Given the description of an element on the screen output the (x, y) to click on. 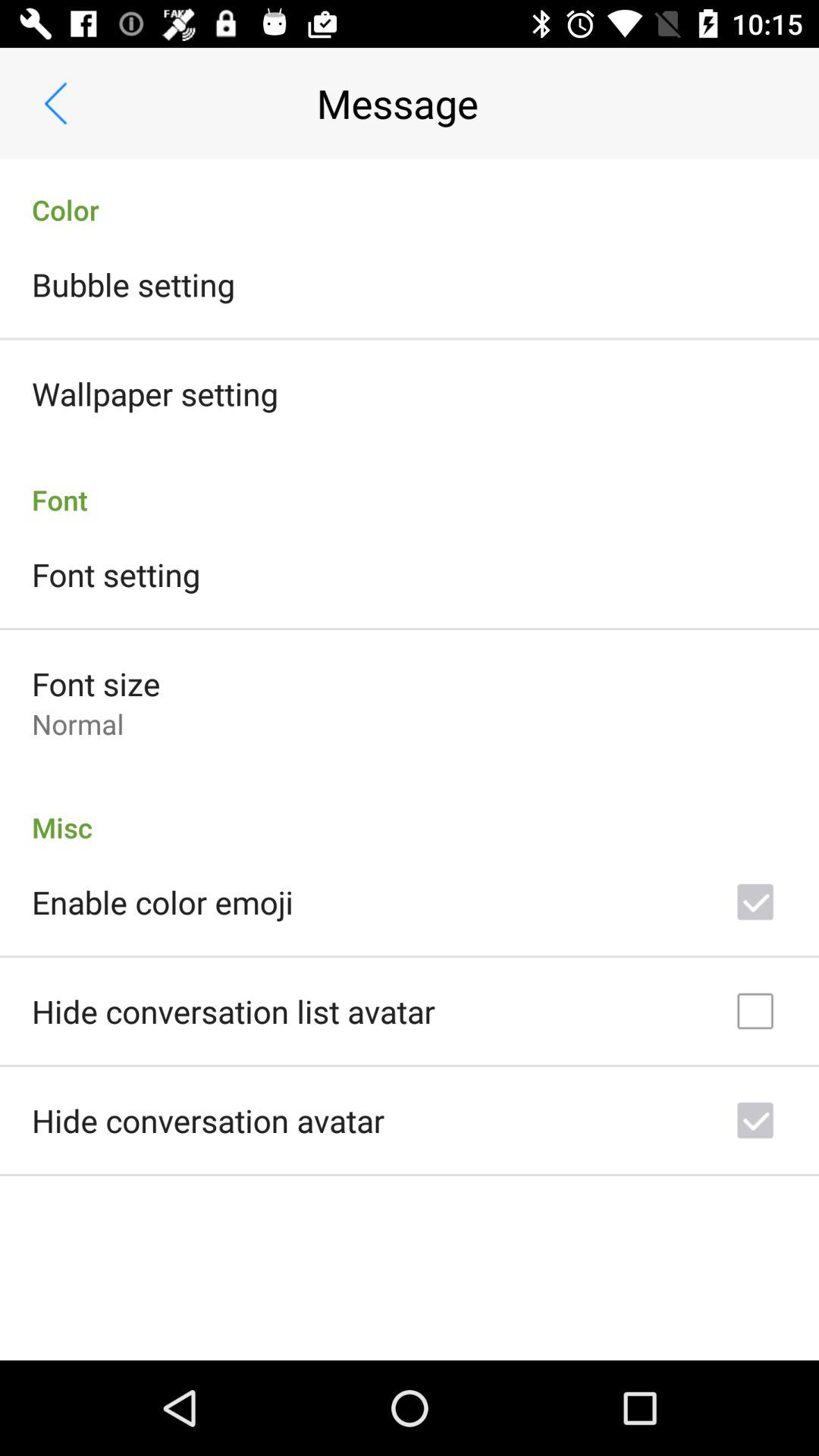
flip until the font size icon (95, 683)
